Given the description of an element on the screen output the (x, y) to click on. 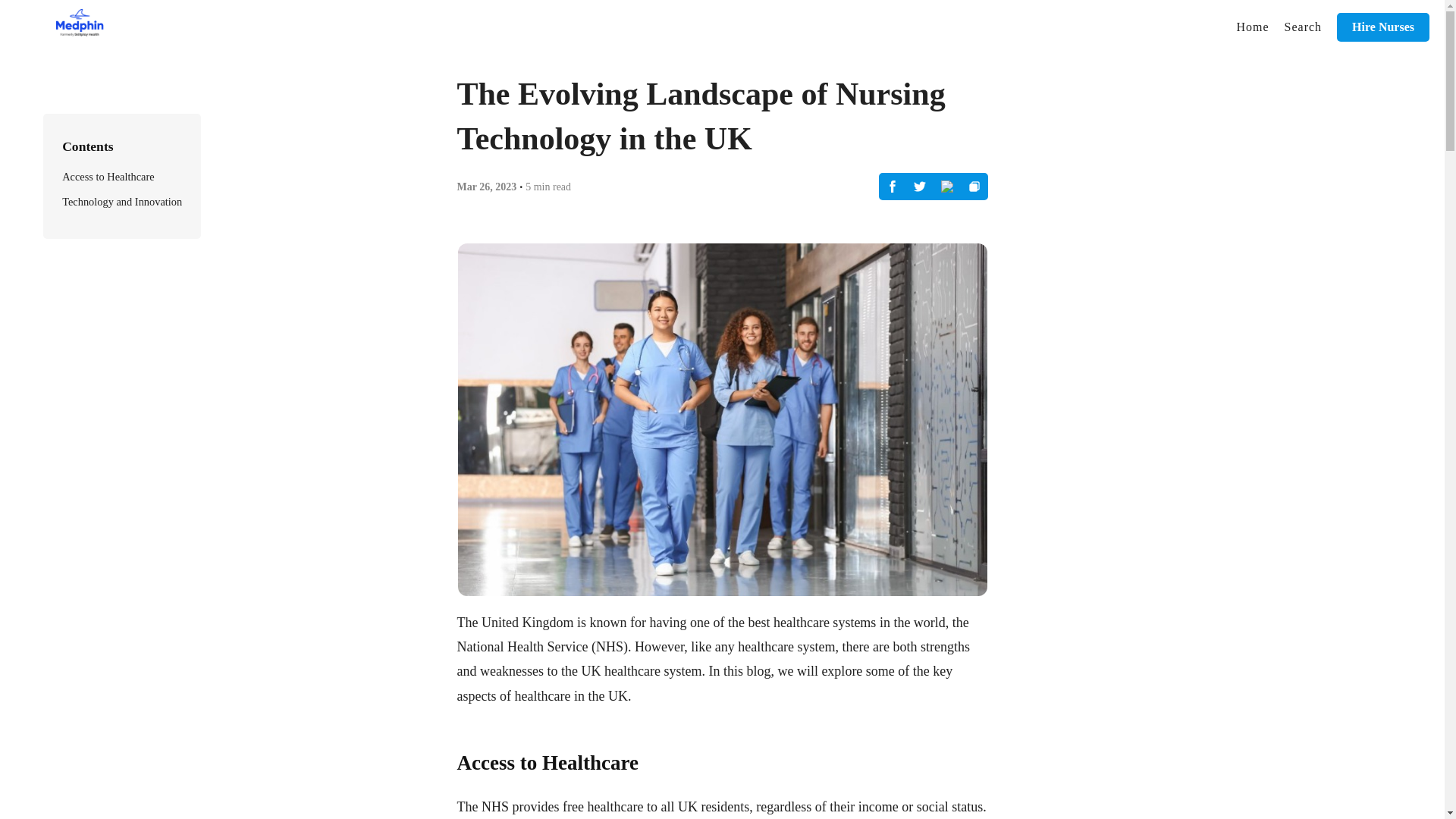
Home (1252, 26)
Technology and Innovation (122, 201)
Hire Nurses (1383, 26)
Search (1303, 26)
Access to Healthcare (108, 176)
Hire Nurses (1382, 26)
